Given the description of an element on the screen output the (x, y) to click on. 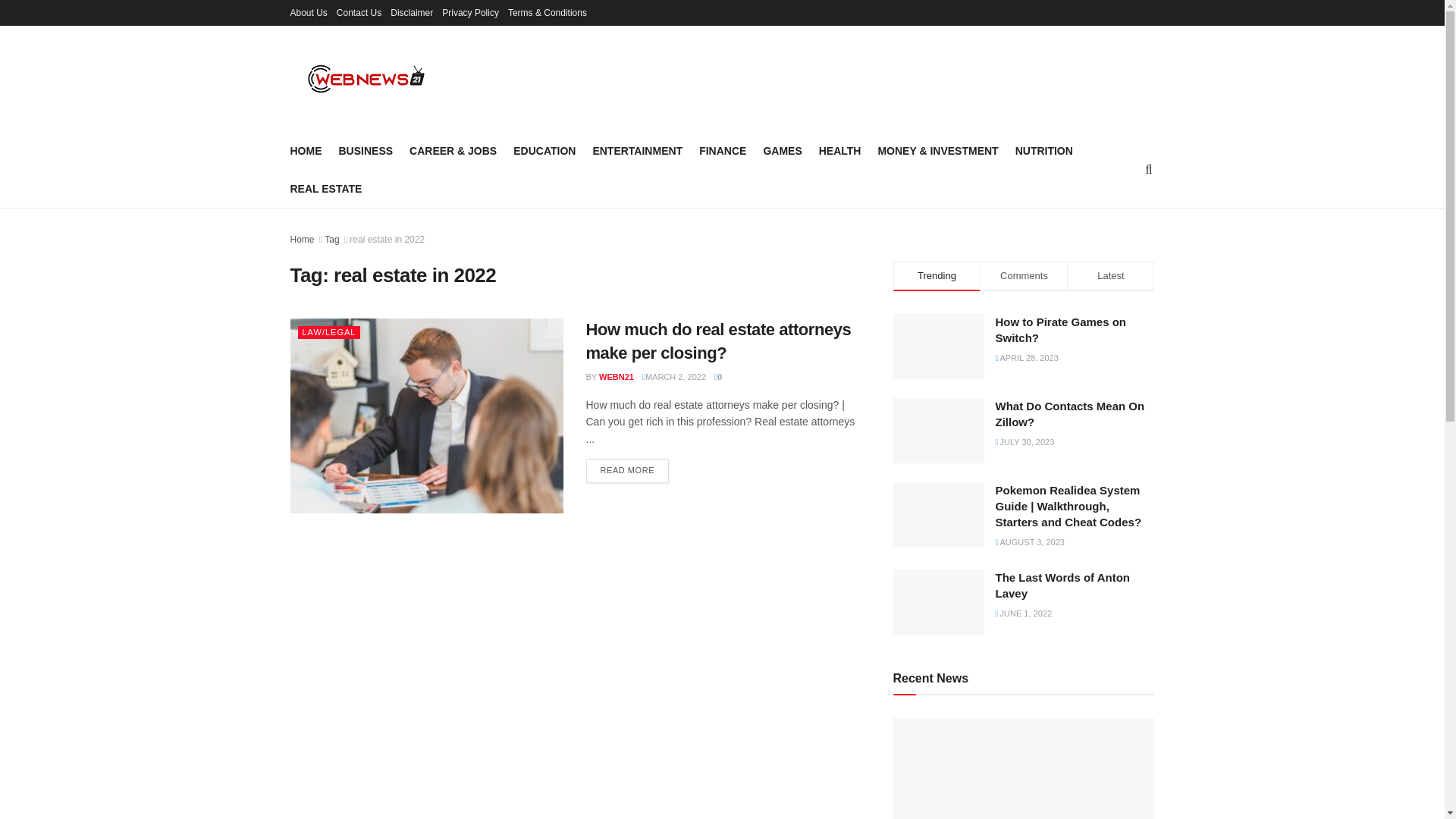
ENTERTAINMENT (637, 150)
BUSINESS (365, 150)
real estate in 2022 (387, 239)
Home (301, 239)
Contact Us (358, 12)
FINANCE (721, 150)
About Us (307, 12)
HOME (305, 150)
NUTRITION (1043, 150)
REAL ESTATE (325, 188)
GAMES (782, 150)
HEALTH (839, 150)
EDUCATION (544, 150)
Disclaimer (411, 12)
Tag (331, 239)
